Given the description of an element on the screen output the (x, y) to click on. 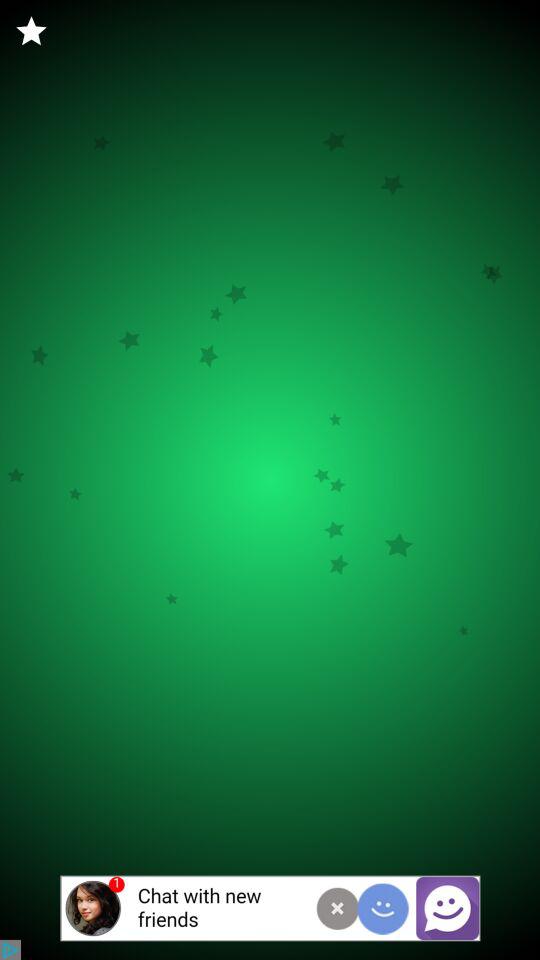
add to favorites (31, 31)
